Given the description of an element on the screen output the (x, y) to click on. 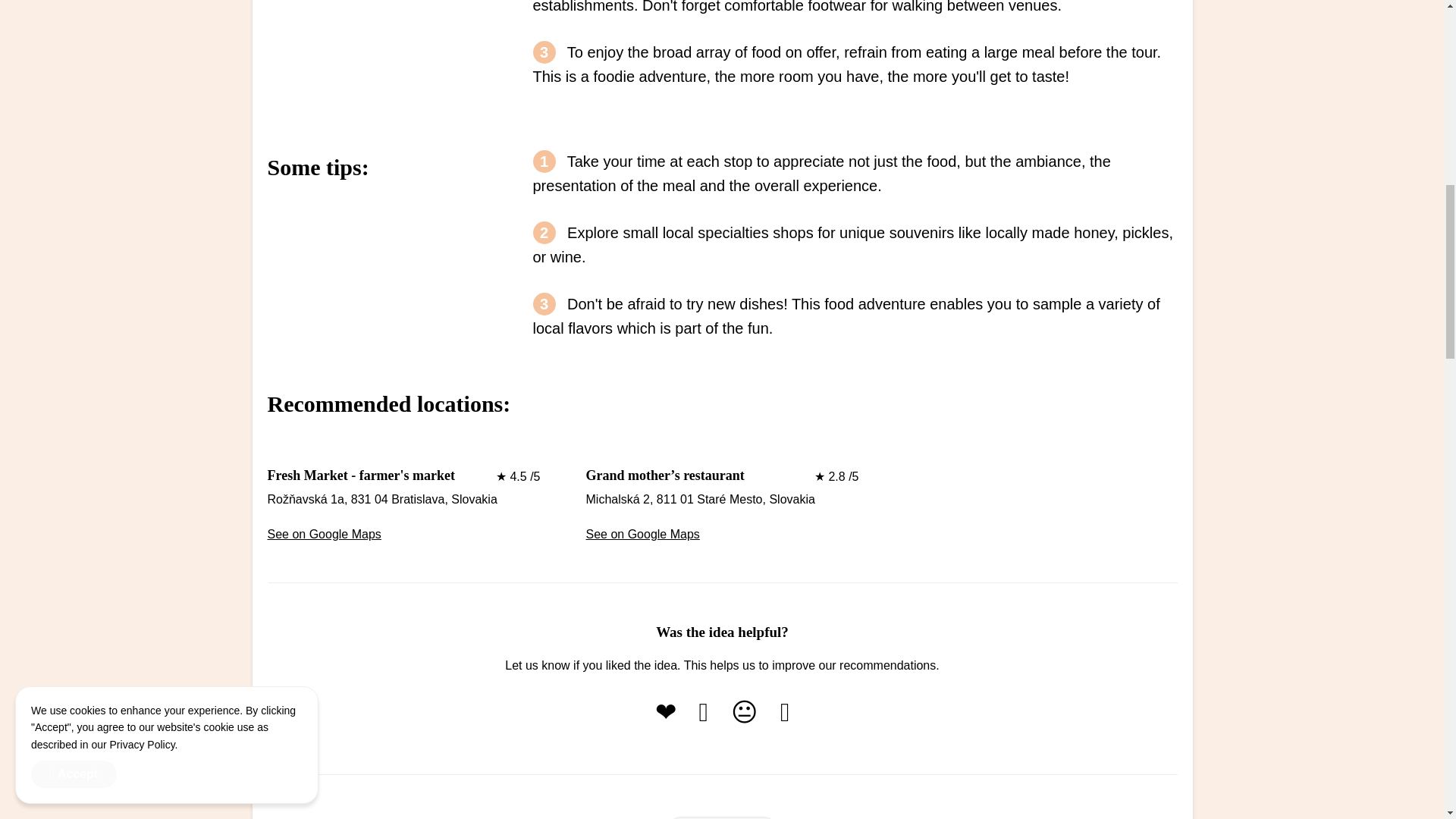
See on Google Maps (641, 534)
Fresh Market - farmer's market (360, 475)
See on Google Maps (323, 534)
